Given the description of an element on the screen output the (x, y) to click on. 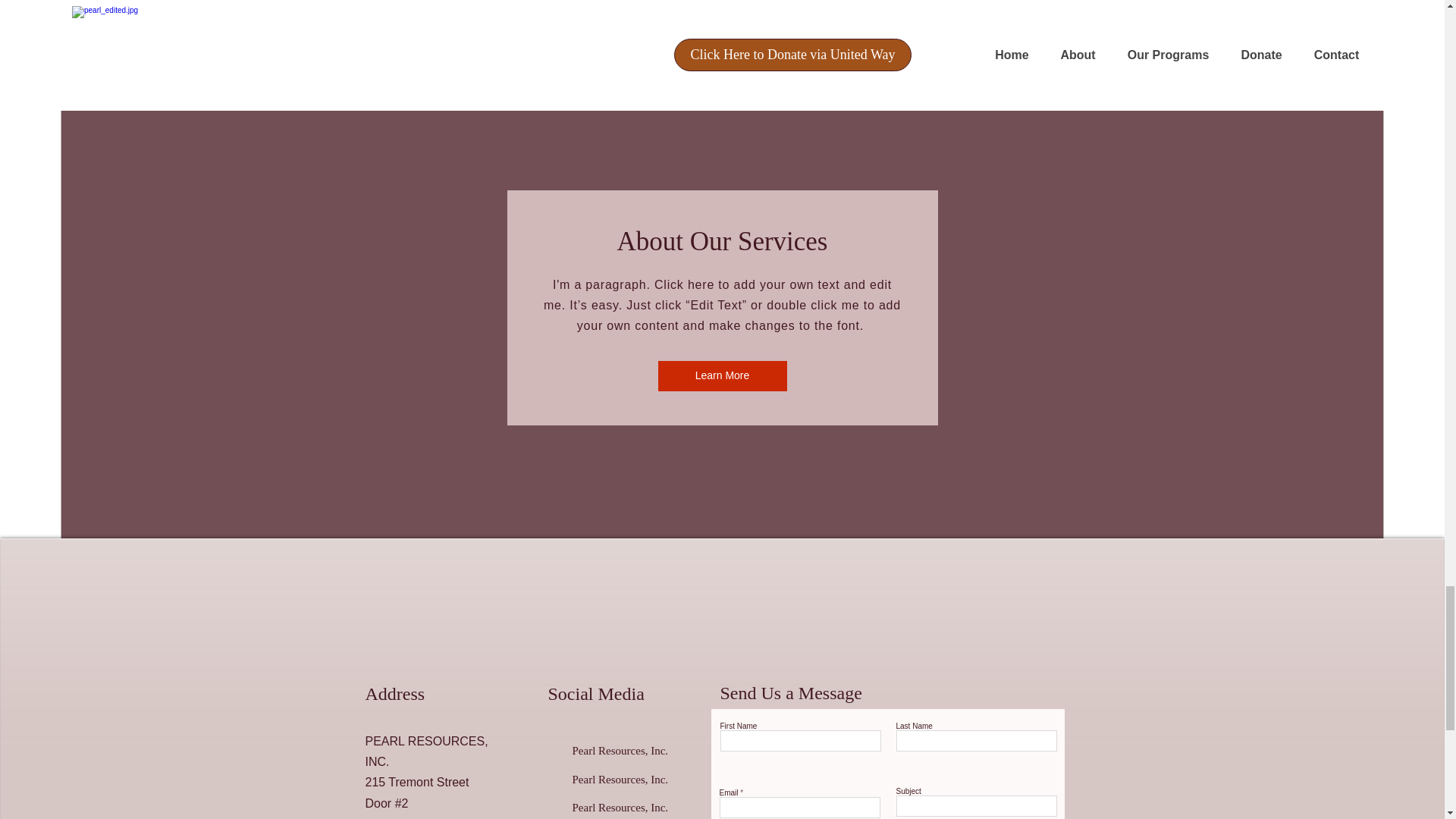
Learn More (722, 376)
